Given the description of an element on the screen output the (x, y) to click on. 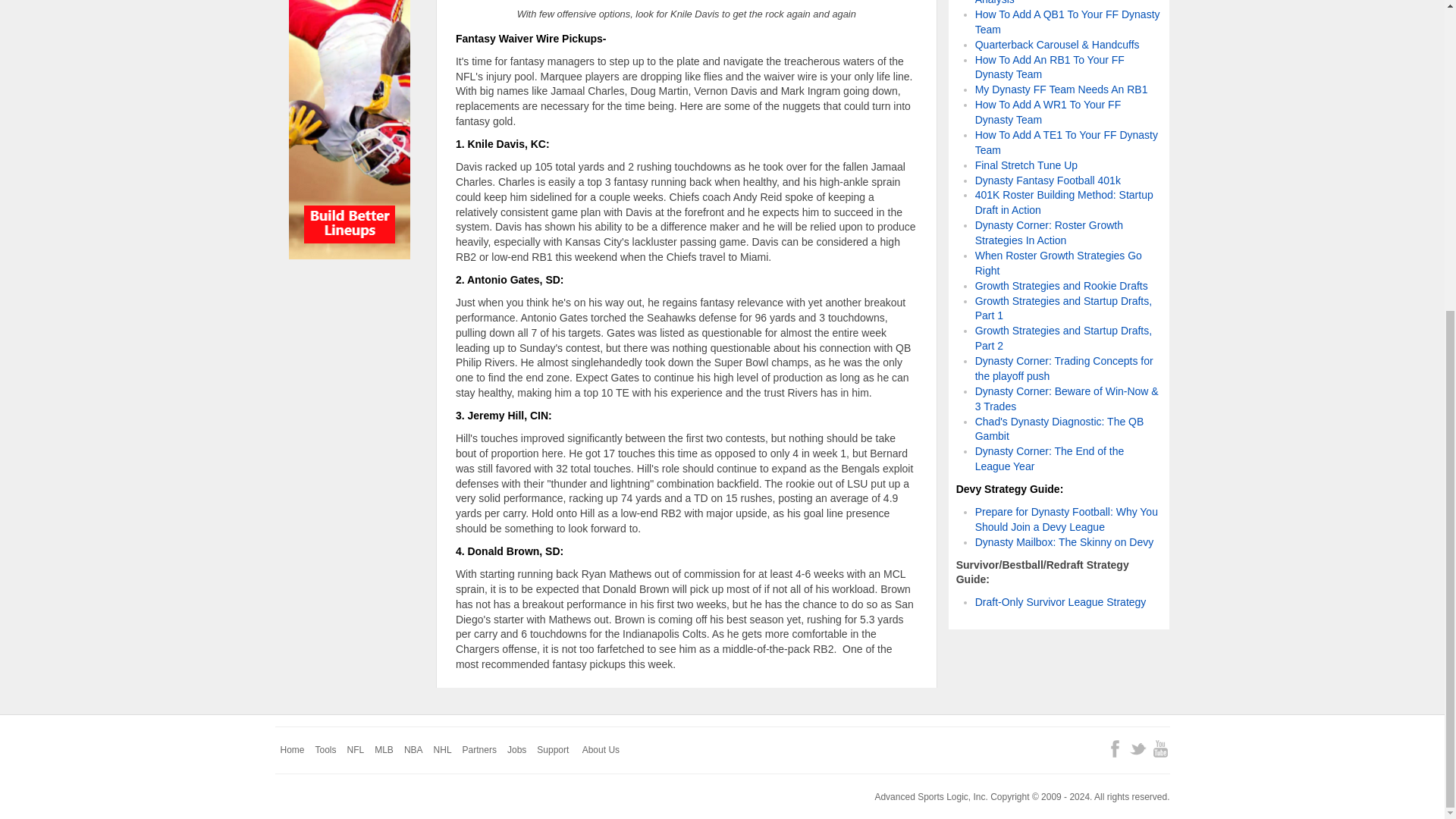
ASL on Facebook (1114, 748)
How To Add An RB1 To Your FF Dynasty Team (1049, 67)
My Dynasty FF Team Needs An RB1 (1061, 89)
Dynasty Rookie Draft Picks - Value Analysis (1057, 2)
ASL on Twitter (1137, 748)
ASL on YouTube (1160, 748)
How To Add A QB1 To Your FF Dynasty Team (1067, 22)
